Given the description of an element on the screen output the (x, y) to click on. 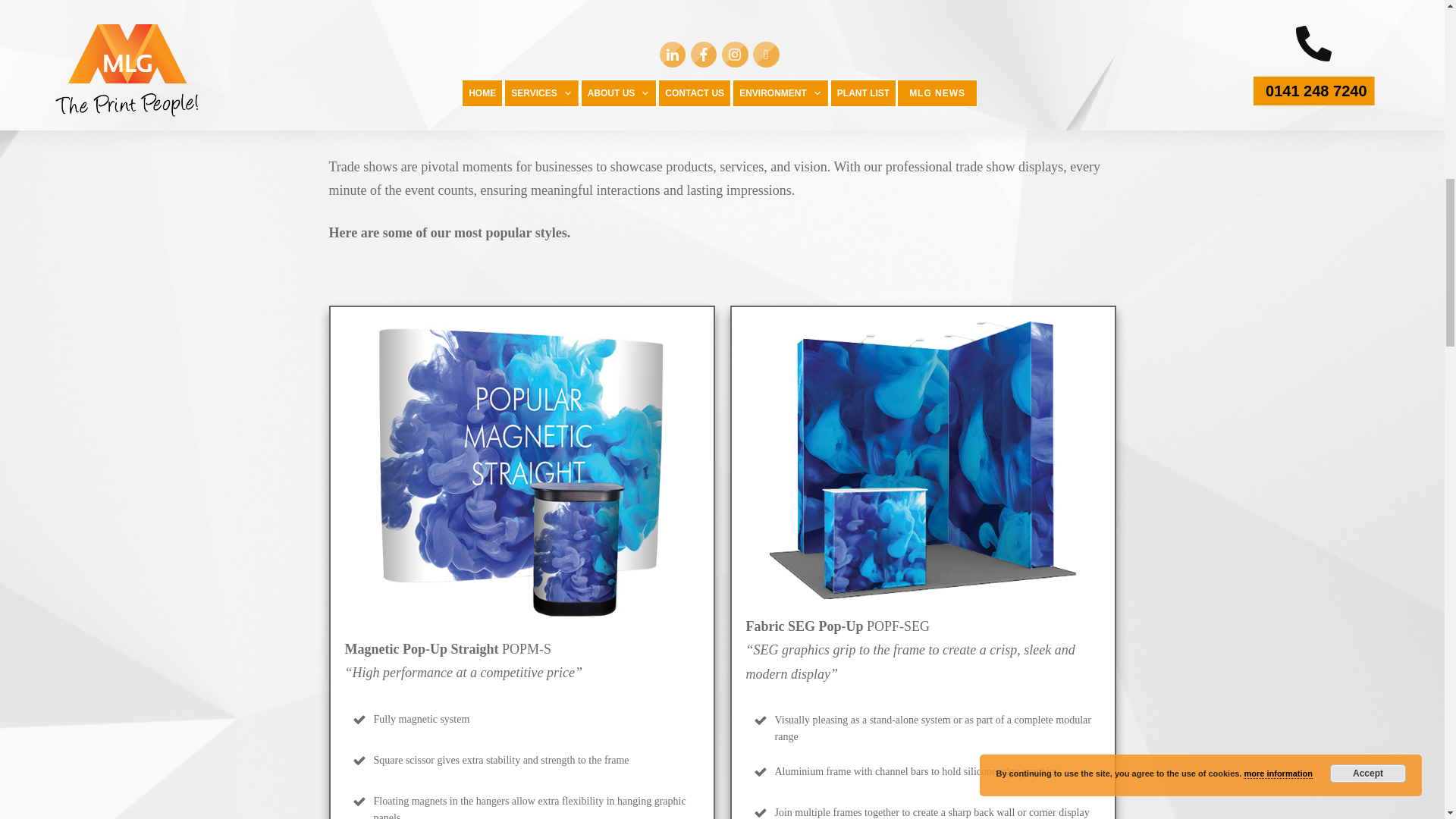
Straight Magnetic Pop-up front with ZEUS Case mock up CMYK (521, 470)
fabric seg popup 3x3 (921, 459)
